Given the description of an element on the screen output the (x, y) to click on. 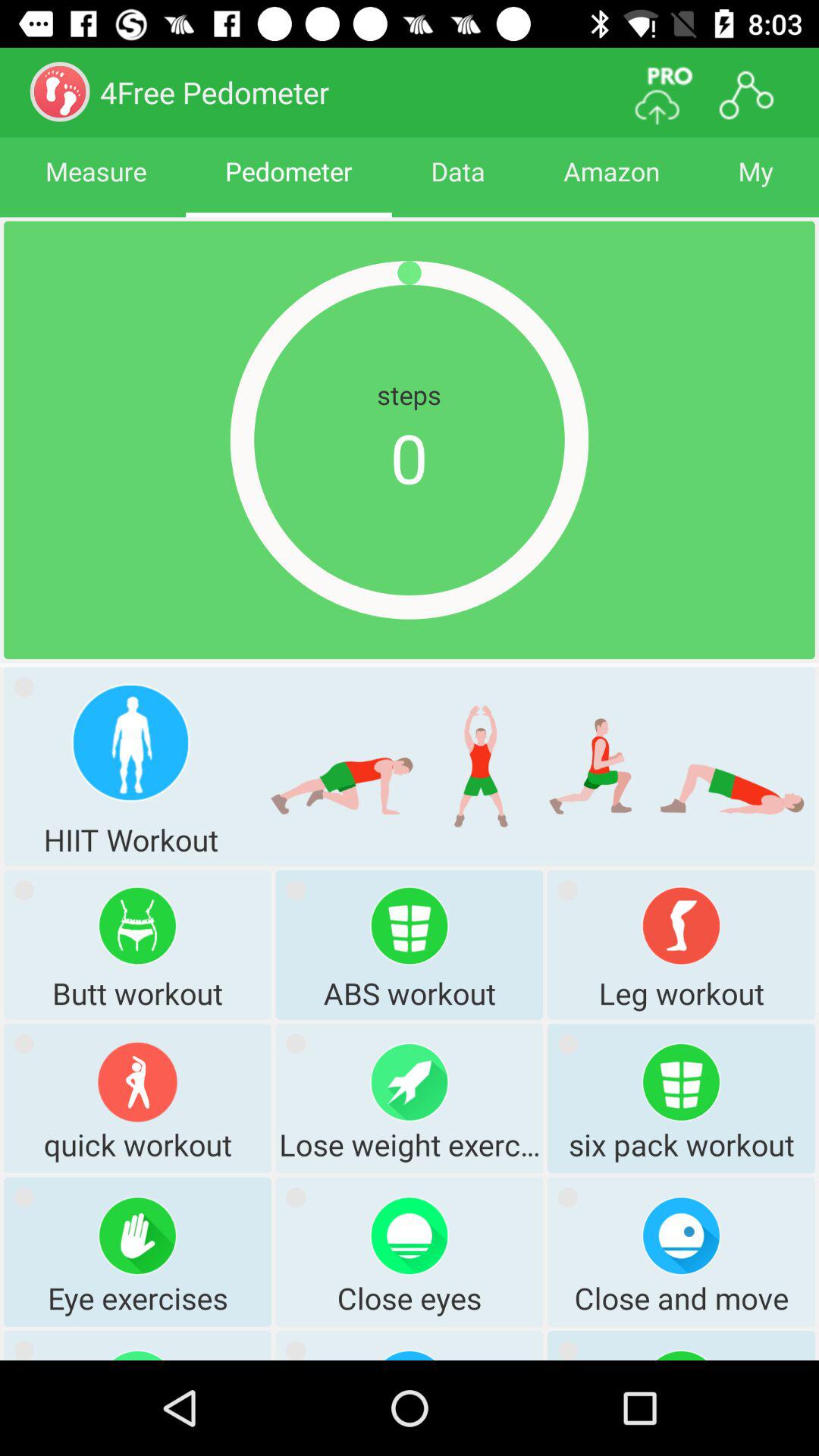
launch the item next to the amazon (457, 185)
